Given the description of an element on the screen output the (x, y) to click on. 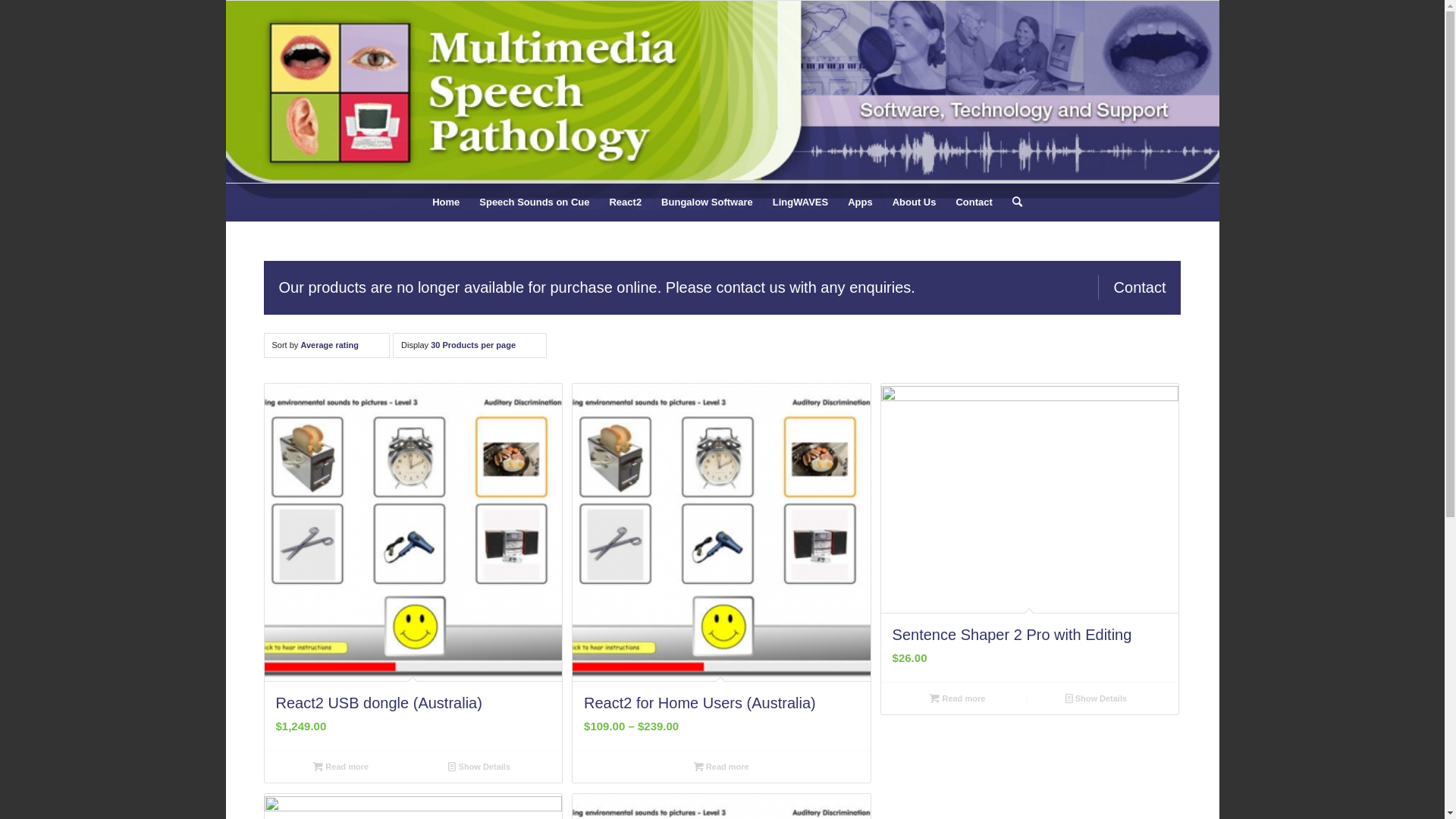
React2 Element type: text (625, 202)
Bungalow Software Element type: text (706, 202)
Sentence Shaper 2 Pro with Editing
$26.00 Element type: text (1029, 532)
LingWAVES Element type: text (799, 202)
Read more Element type: text (340, 766)
Read more Element type: text (957, 698)
Speech Sounds on Cue Element type: text (534, 202)
Show Details Element type: text (479, 766)
Contact Element type: text (973, 202)
Read more Element type: text (721, 766)
Contact Element type: text (1132, 287)
Apps Element type: text (859, 202)
Show Details Element type: text (1095, 698)
About Us Element type: text (914, 202)
Home Element type: text (445, 202)
React2 USB dongle (Australia)
$1,249.00 Element type: text (412, 566)
